Given the description of an element on the screen output the (x, y) to click on. 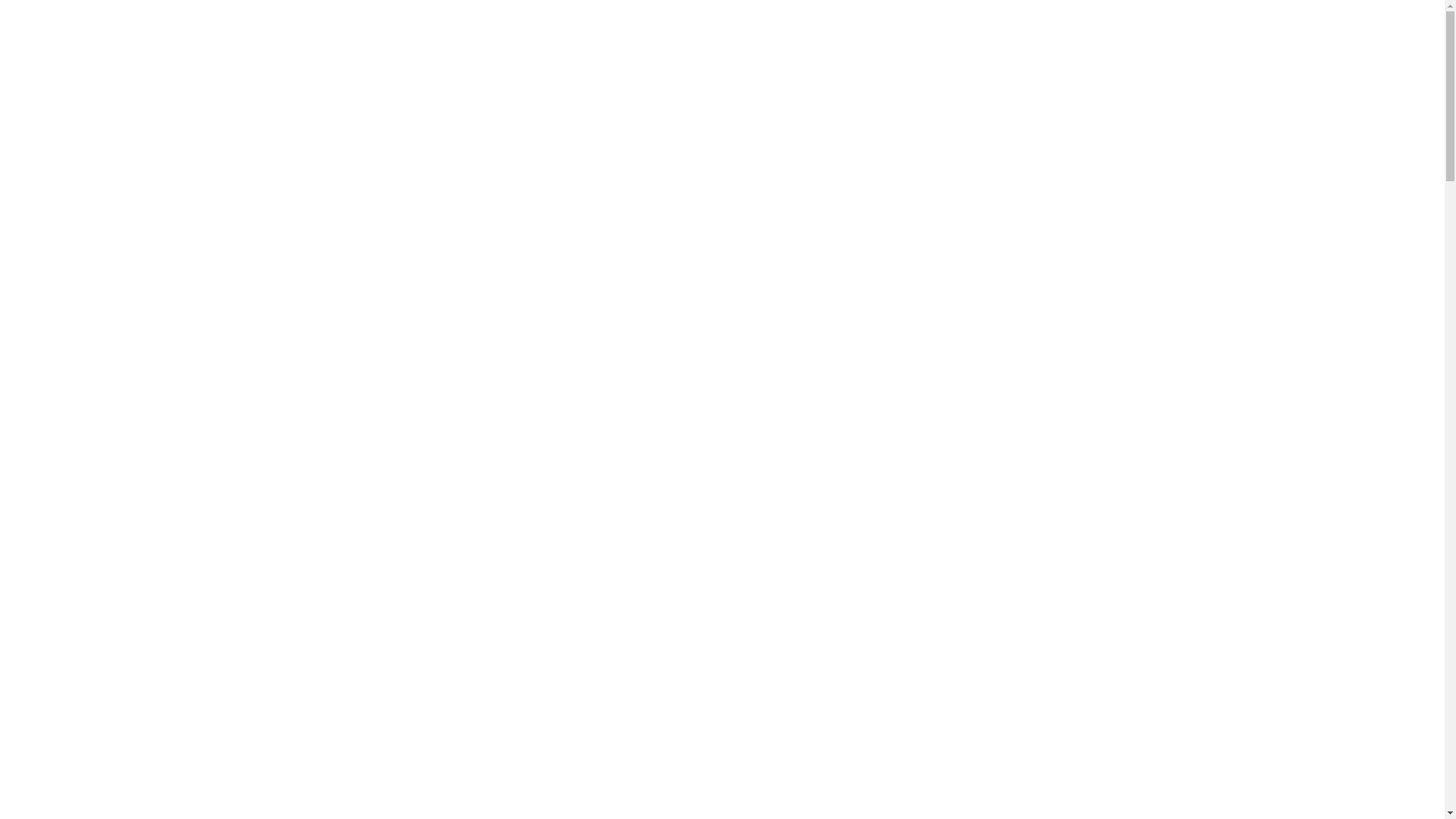
About Element type: text (82, 542)
Hybrid Cloud & MultiCloud Element type: text (166, 128)
Insights Element type: text (86, 433)
Careers & Culture Element type: text (141, 556)
Cyber Security Element type: text (124, 175)
Cloud & Data Element type: text (121, 87)
Cloud Security Element type: text (133, 216)
Private Cloud Element type: text (130, 115)
Managed Services Element type: text (132, 310)
Cloud Management Element type: text (145, 142)
Cyber Security Assessment Element type: text (163, 244)
News Element type: text (110, 447)
IT Infrastructure Management Element type: text (170, 351)
Managed Public Cloud Element type: text (153, 101)
Retail Element type: text (111, 515)
Endpoint Protection Element type: text (145, 189)
Learn More Element type: text (34, 647)
Success Stories Element type: text (73, 406)
Microsoft Dynamics 365 Element type: text (157, 291)
Cloud Cost Optimisation Element type: text (157, 156)
About Element type: text (51, 529)
LS Retail Element type: text (120, 277)
SD-WAN Element type: text (120, 392)
Communications Platforms Element type: text (163, 365)
Services Element type: text (56, 68)
Government Element type: text (127, 501)
Get In Touch Element type: text (68, 570)
Retail Solutions Element type: text (126, 263)
Connectivity Services Element type: text (150, 379)
Endpoint Management Element type: text (152, 338)
Events Element type: text (113, 461)
Support & Service Desk Element type: text (156, 324)
Insights Element type: text (55, 420)
Industries Element type: text (60, 474)
Industries Element type: text (92, 488)
Managed Detection & Response Element type: text (175, 230)
Network Security Element type: text (139, 203)
